Given the description of an element on the screen output the (x, y) to click on. 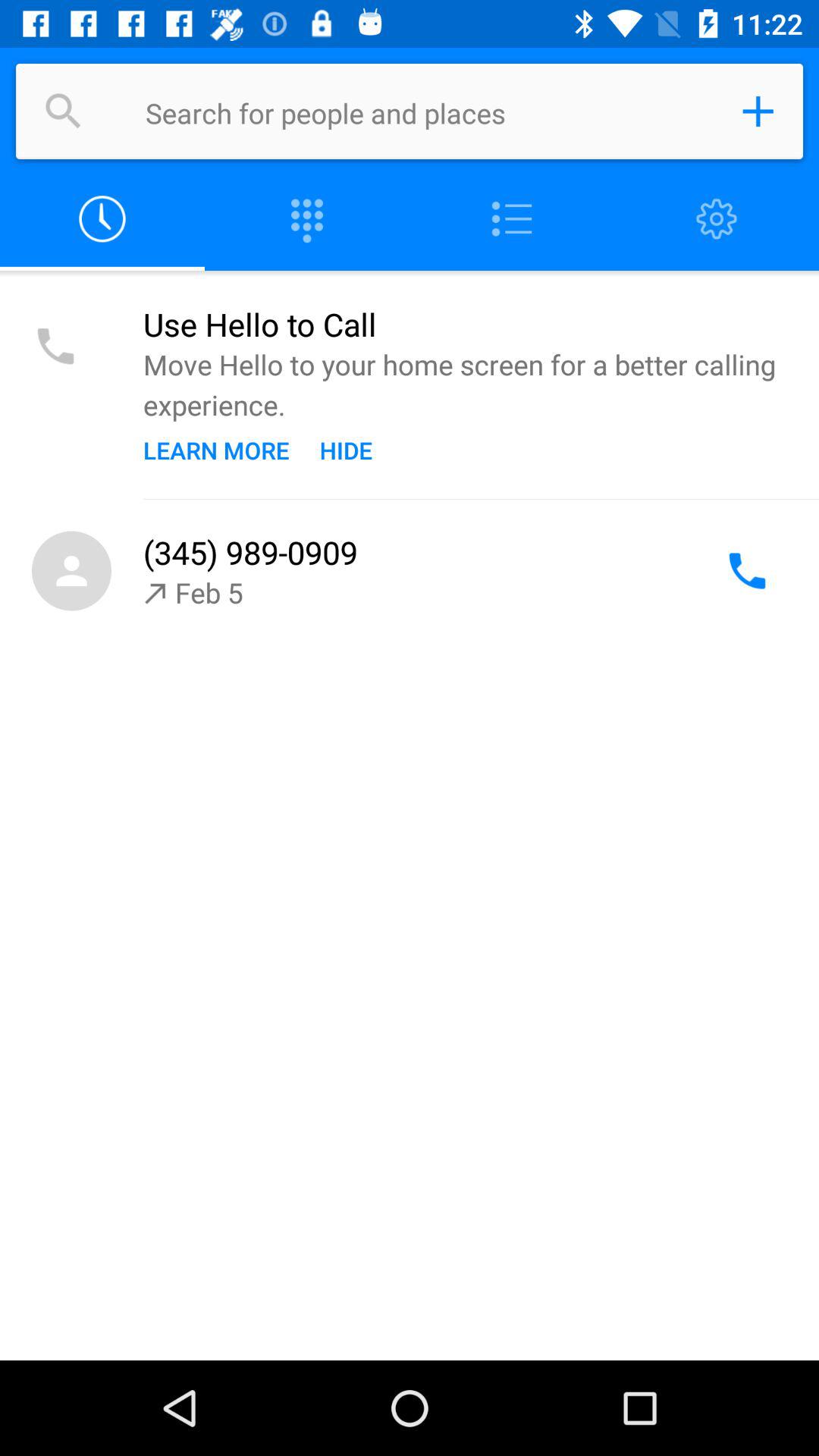
enter search terms (427, 111)
